Given the description of an element on the screen output the (x, y) to click on. 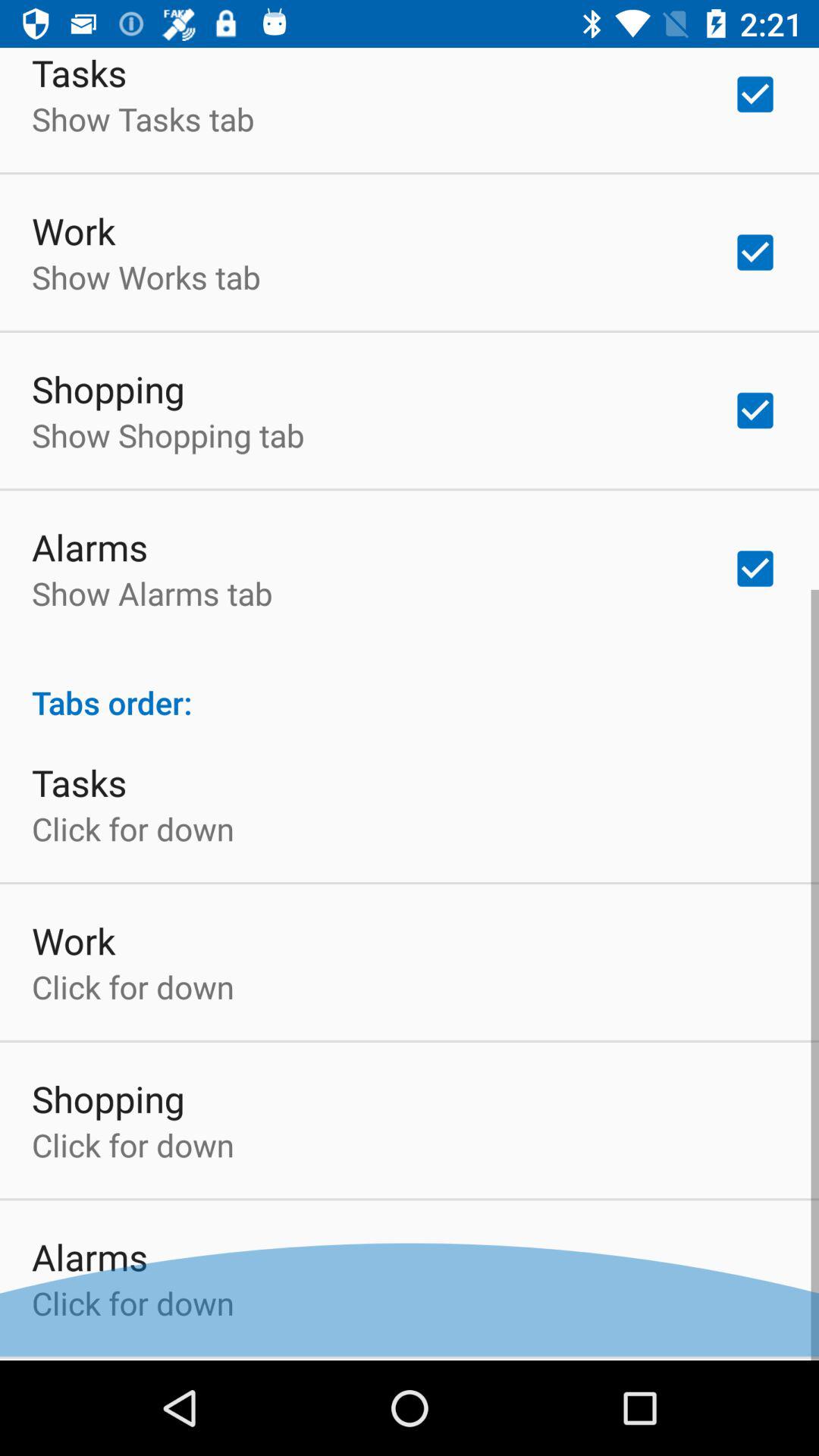
turn off tabs order: at the center (409, 690)
